Given the description of an element on the screen output the (x, y) to click on. 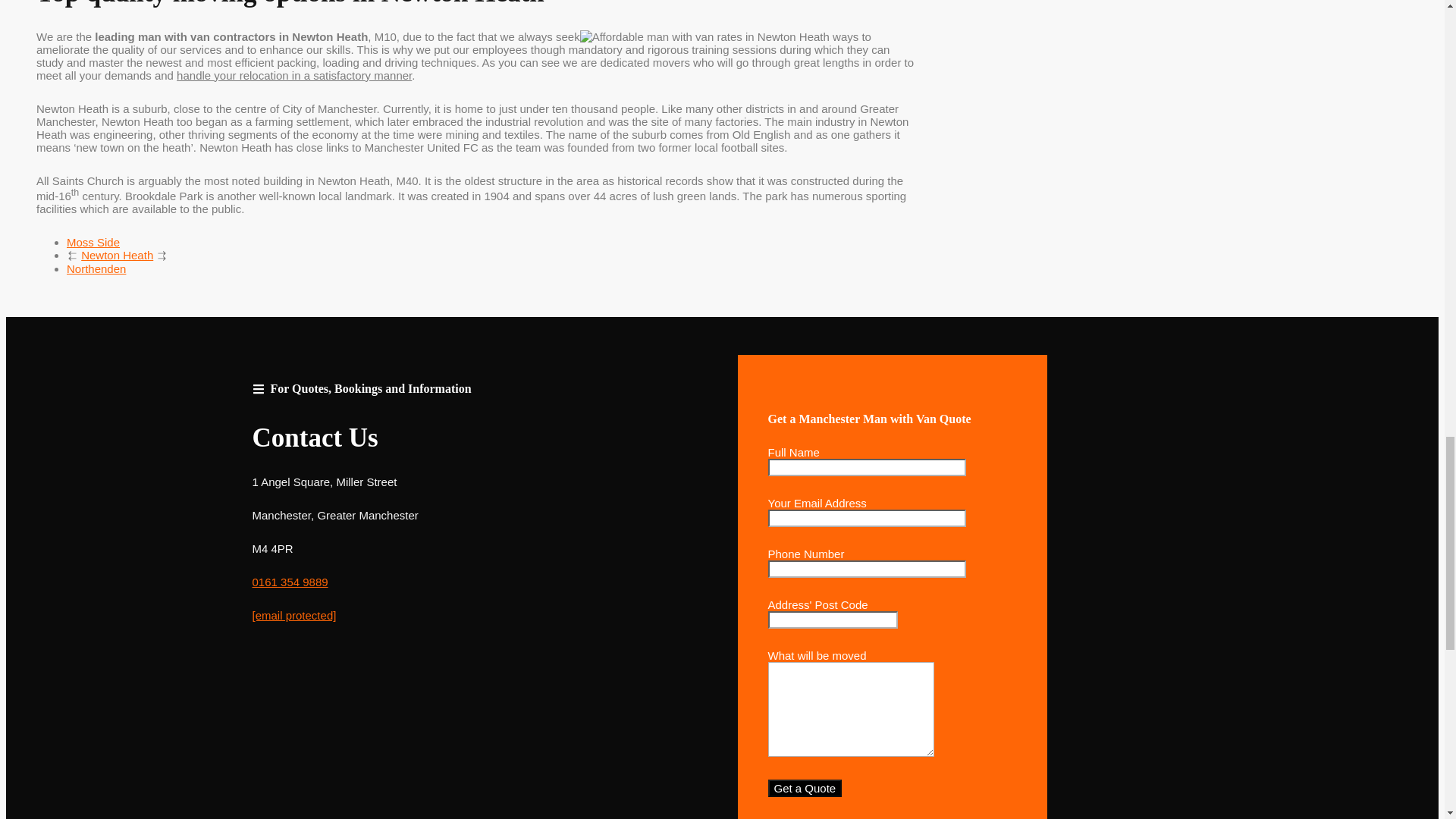
Get a Quote (804, 787)
